Given the description of an element on the screen output the (x, y) to click on. 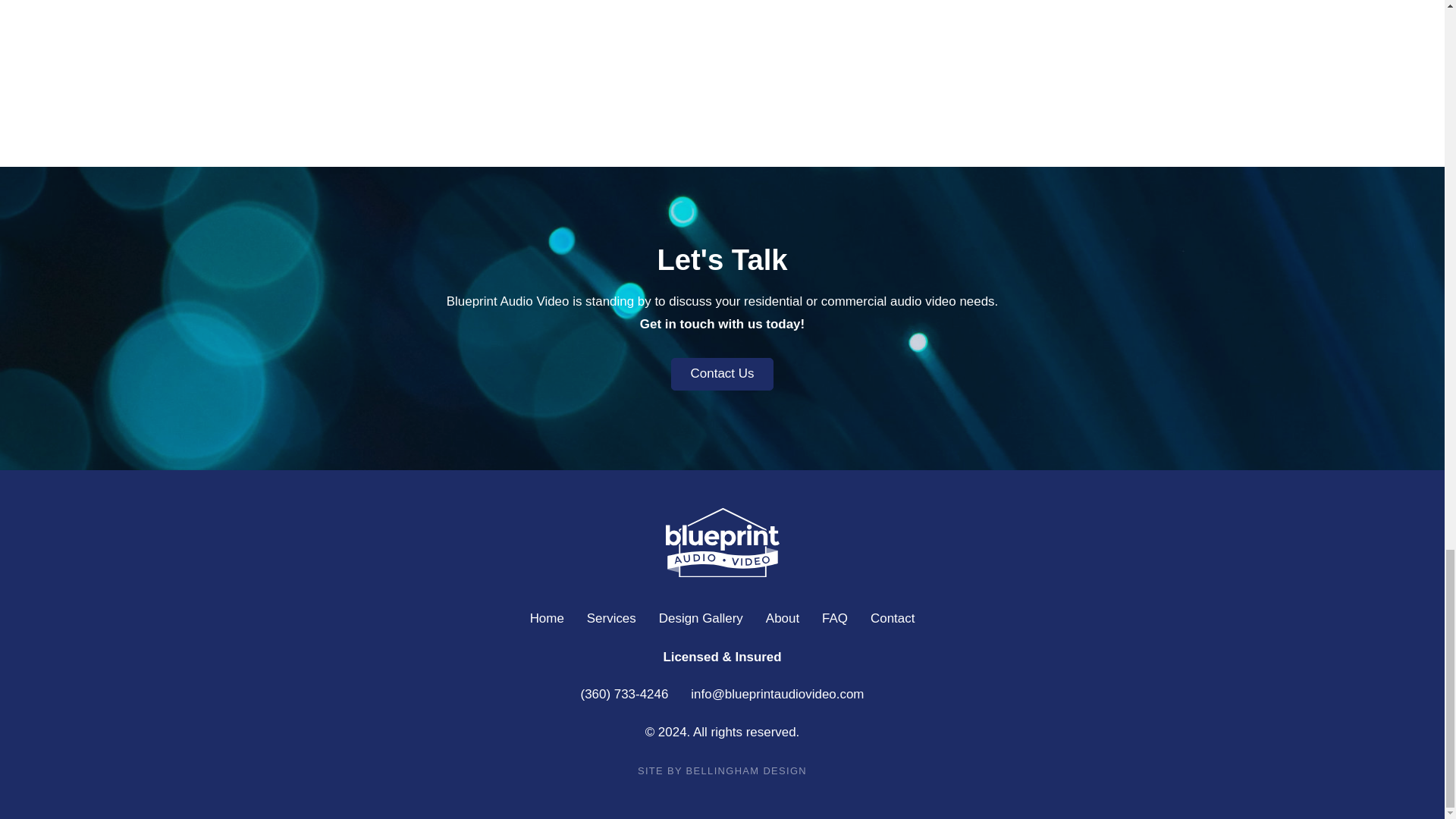
SITE BY BELLINGHAM DESIGN (721, 771)
Design Gallery (700, 618)
Contact Us (722, 373)
FAQ (834, 618)
Home (547, 618)
Contact (892, 618)
About (782, 618)
Services (611, 618)
